Given the description of an element on the screen output the (x, y) to click on. 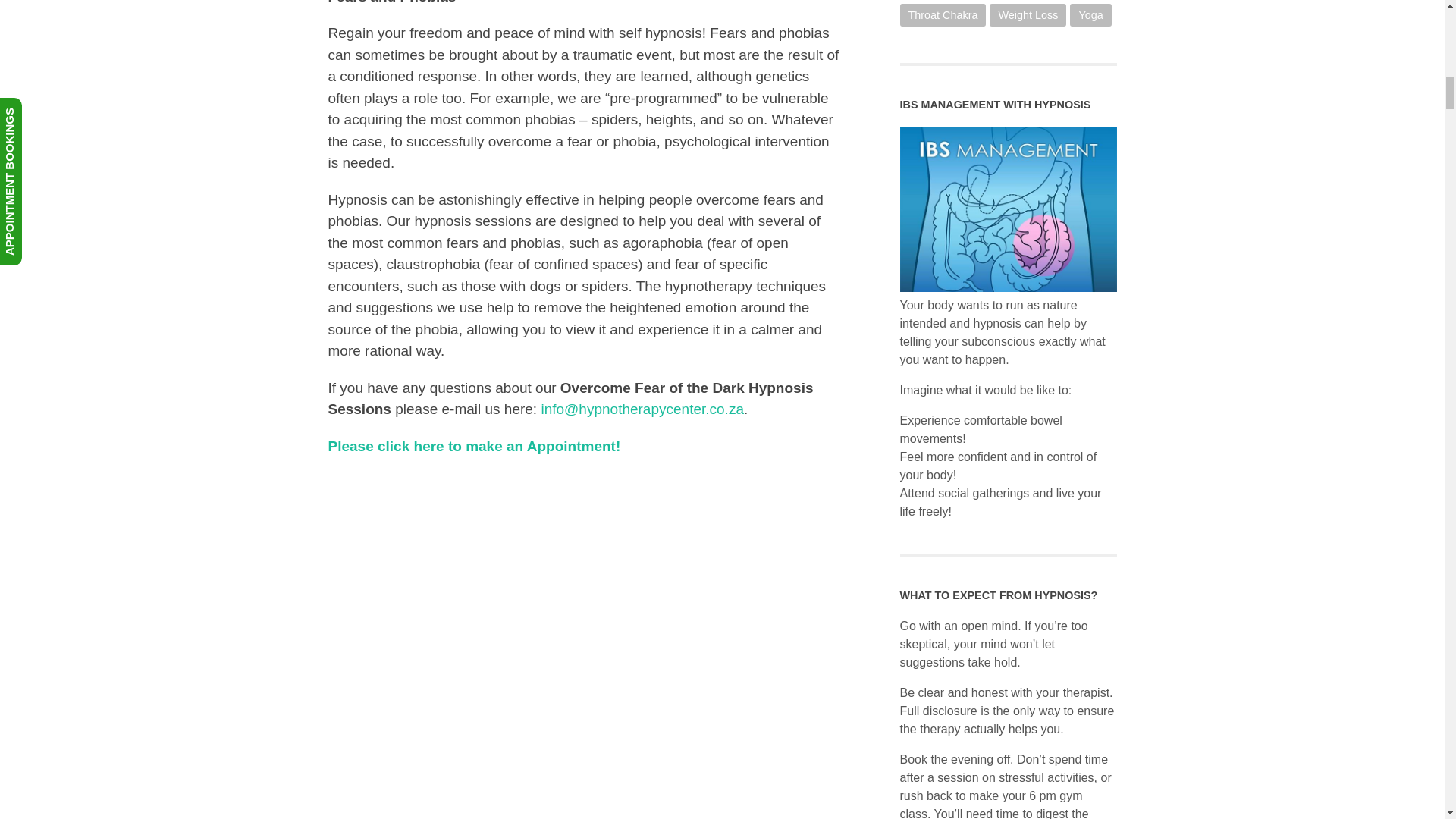
Click Here! IBS Management with Hypnosis (1007, 287)
